Given the description of an element on the screen output the (x, y) to click on. 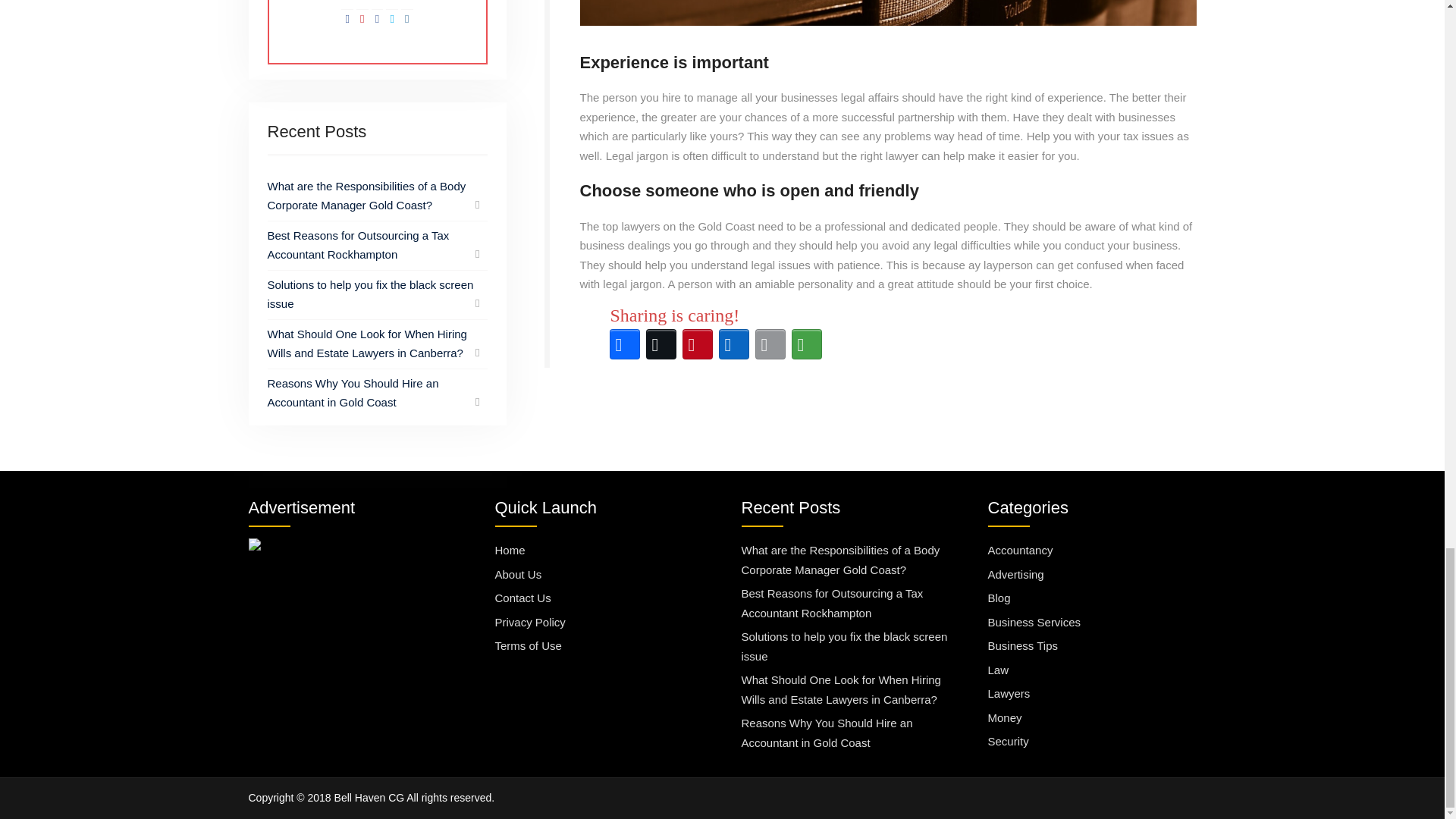
Facebook (625, 343)
LinkedIn (734, 343)
More Options (807, 343)
Email This (770, 343)
Pinterest (697, 343)
